Given the description of an element on the screen output the (x, y) to click on. 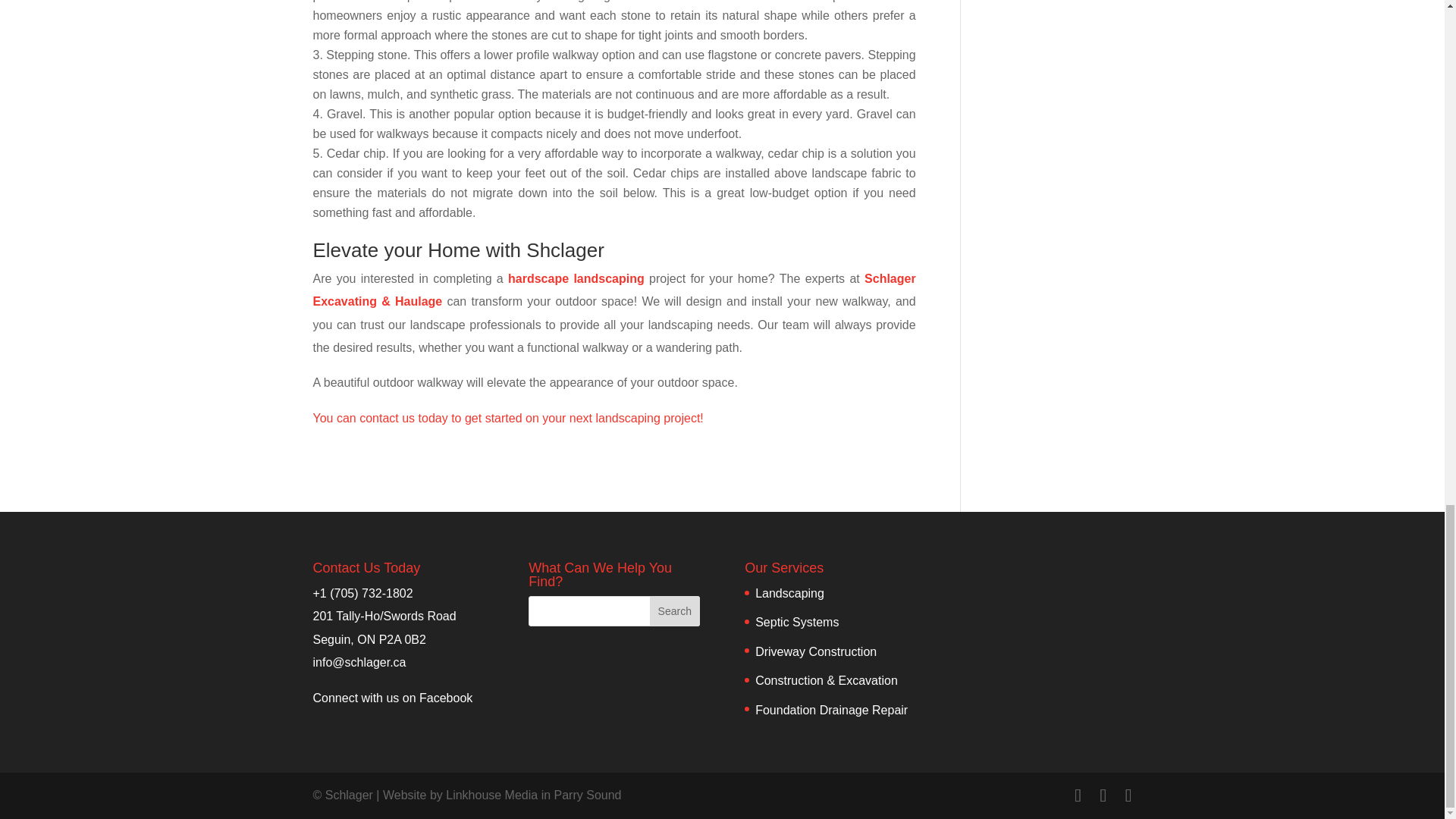
Search (674, 611)
Connect with us on Facebook (392, 697)
hardscape landscaping (576, 278)
Email Us (359, 662)
Search (674, 611)
Driveway Construction (815, 651)
Go to Facebook (392, 697)
Landscaping (789, 593)
Septic Systems (796, 621)
Foundation Drainage Repair (831, 709)
